Given the description of an element on the screen output the (x, y) to click on. 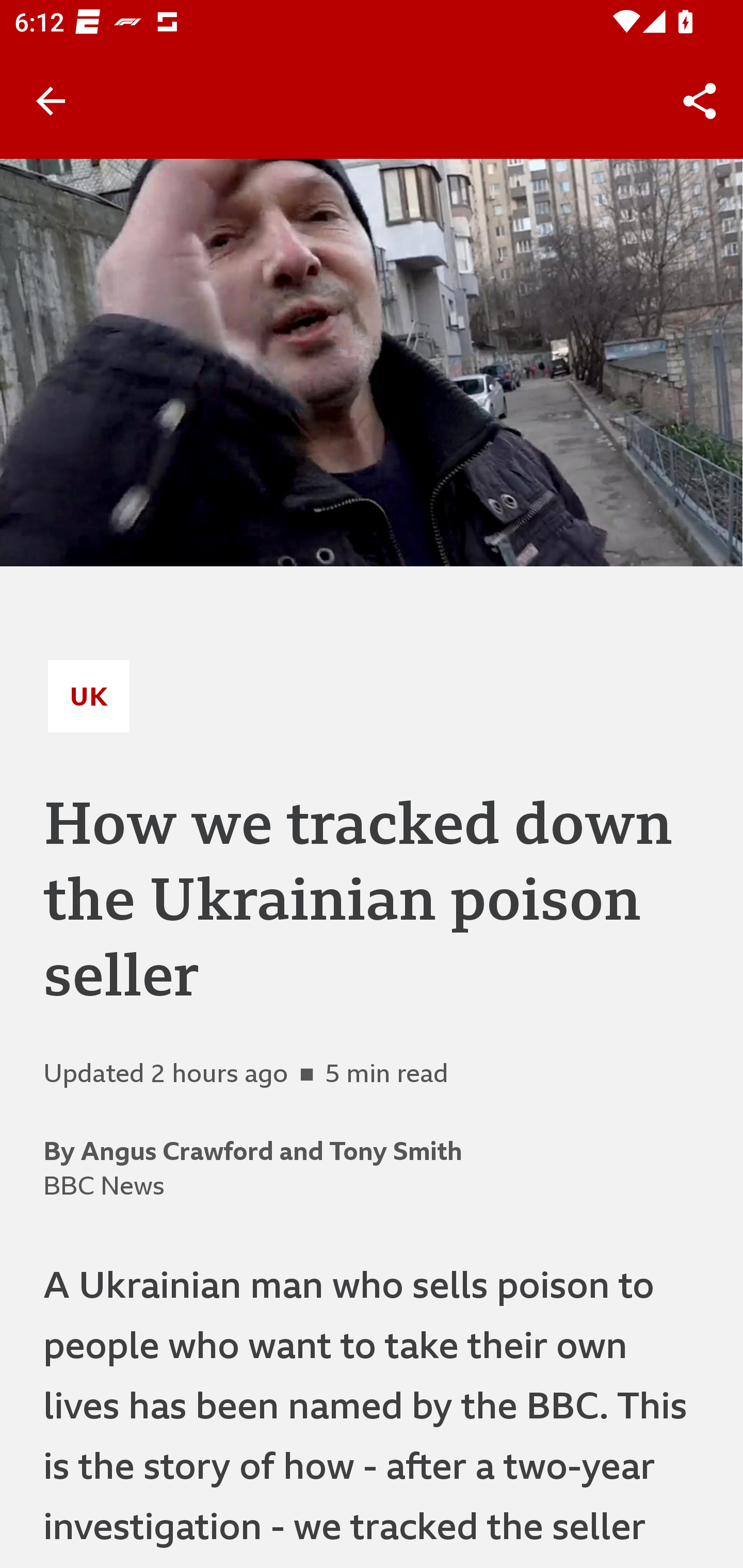
Back (50, 101)
Share (699, 101)
UK (88, 696)
